Given the description of an element on the screen output the (x, y) to click on. 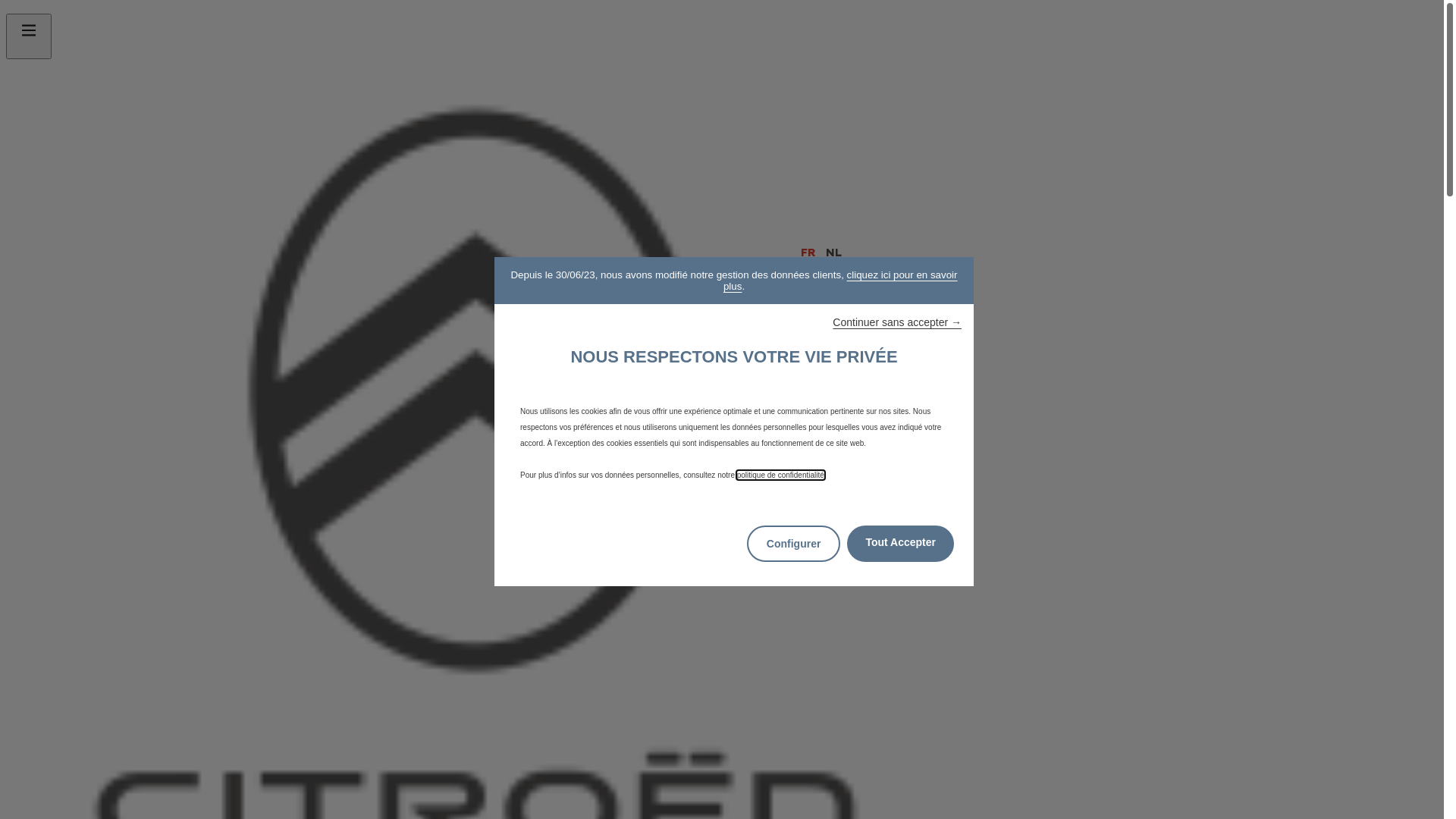
cliquez ici pour en savoir plus Element type: text (840, 280)
Tout Accepter Element type: text (900, 543)
Configurer Element type: text (793, 543)
NL Element type: text (833, 251)
FR Element type: text (809, 251)
